Given the description of an element on the screen output the (x, y) to click on. 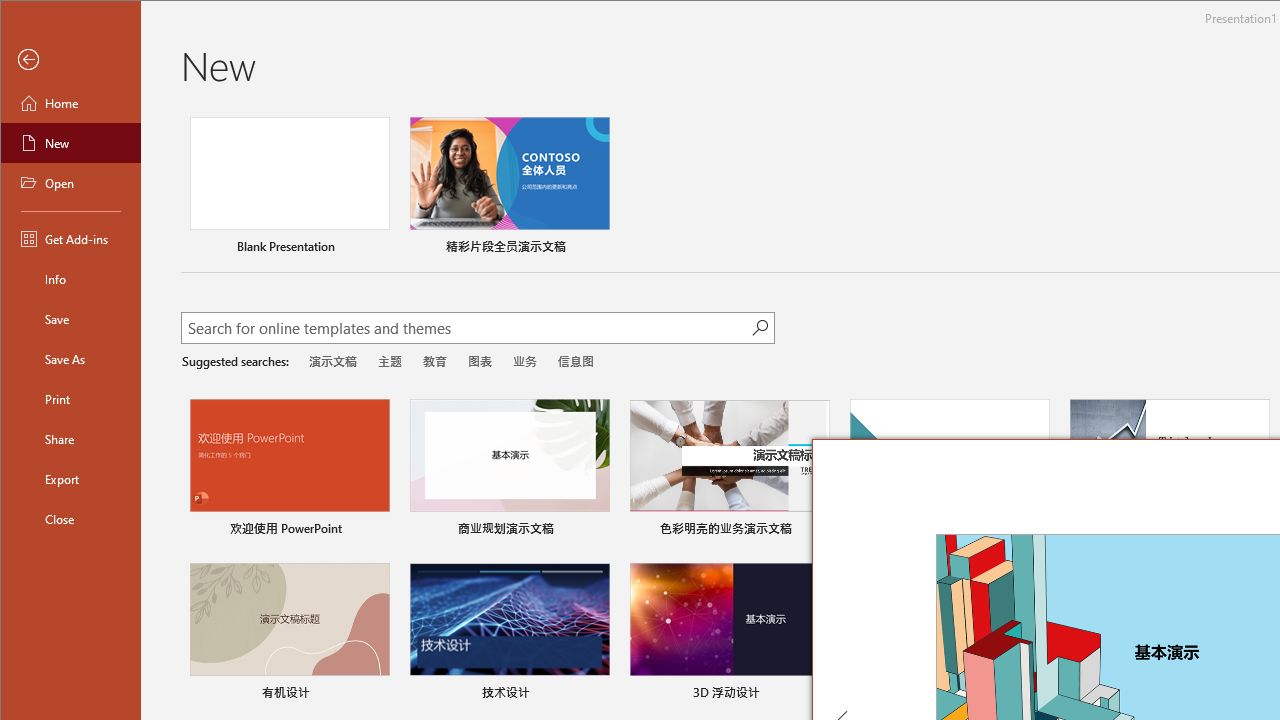
Export (70, 478)
Save As (70, 358)
Start searching (760, 327)
New (70, 142)
